Given the description of an element on the screen output the (x, y) to click on. 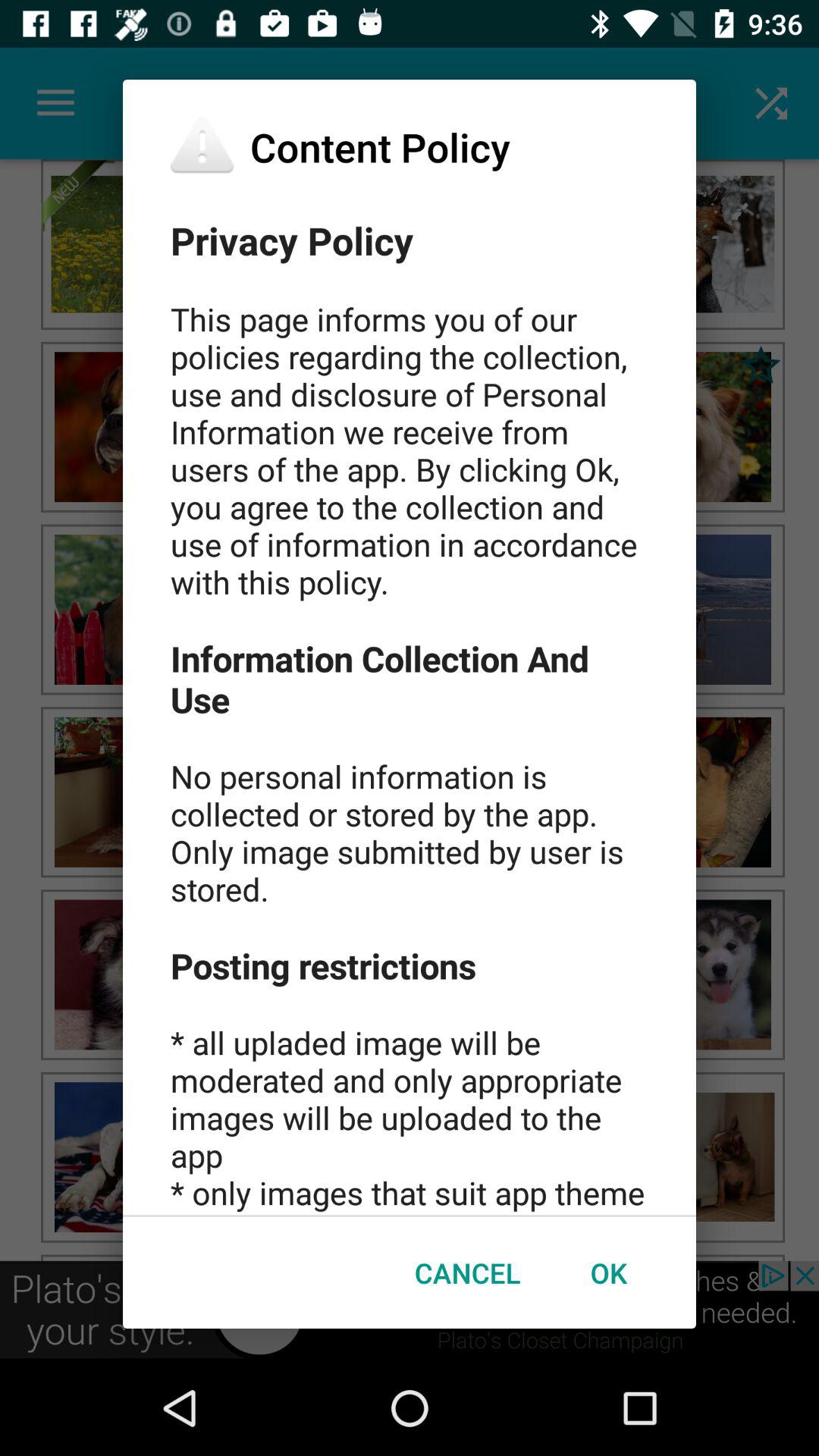
turn off icon to the left of the ok item (467, 1272)
